Given the description of an element on the screen output the (x, y) to click on. 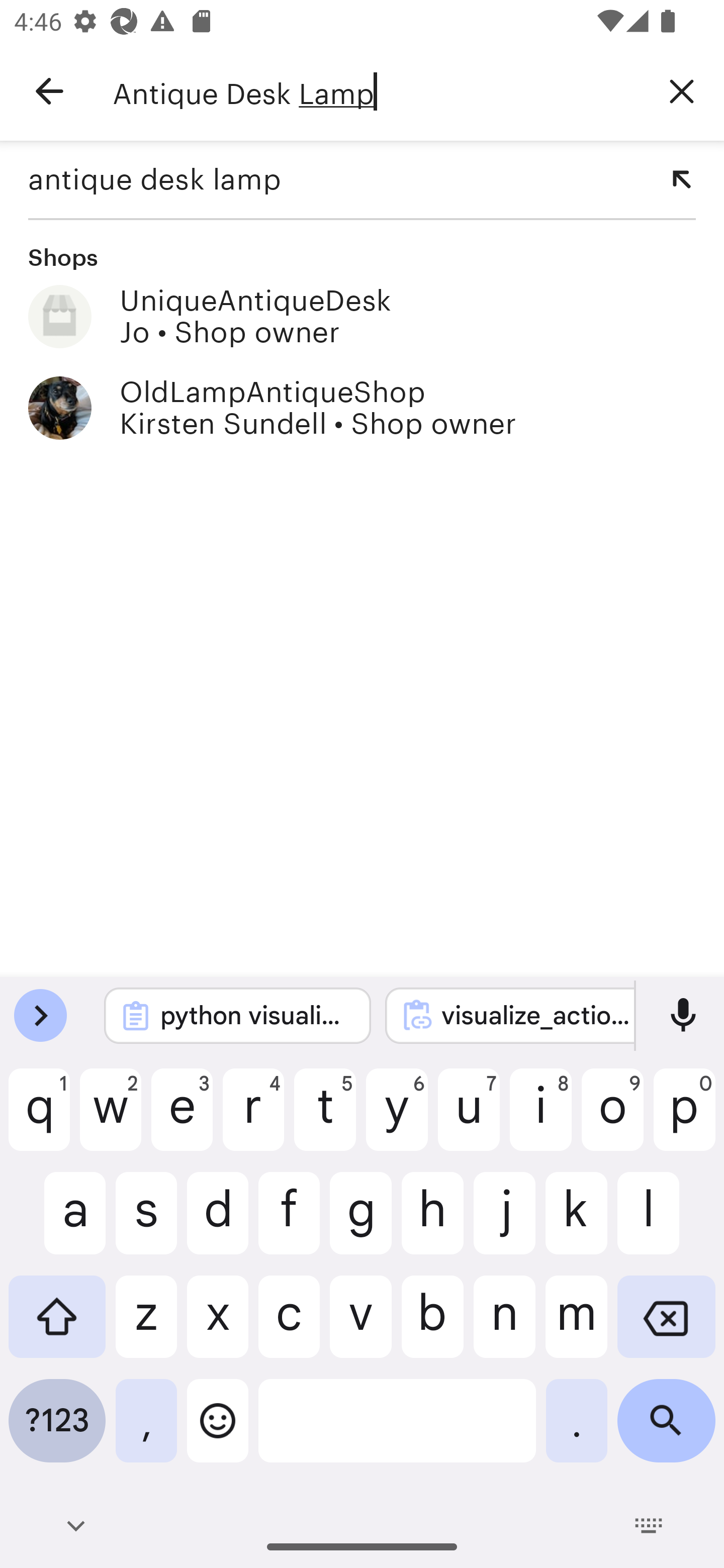
Navigate up (49, 91)
Clear query (681, 90)
Antique Desk Lamp (375, 91)
